Given the description of an element on the screen output the (x, y) to click on. 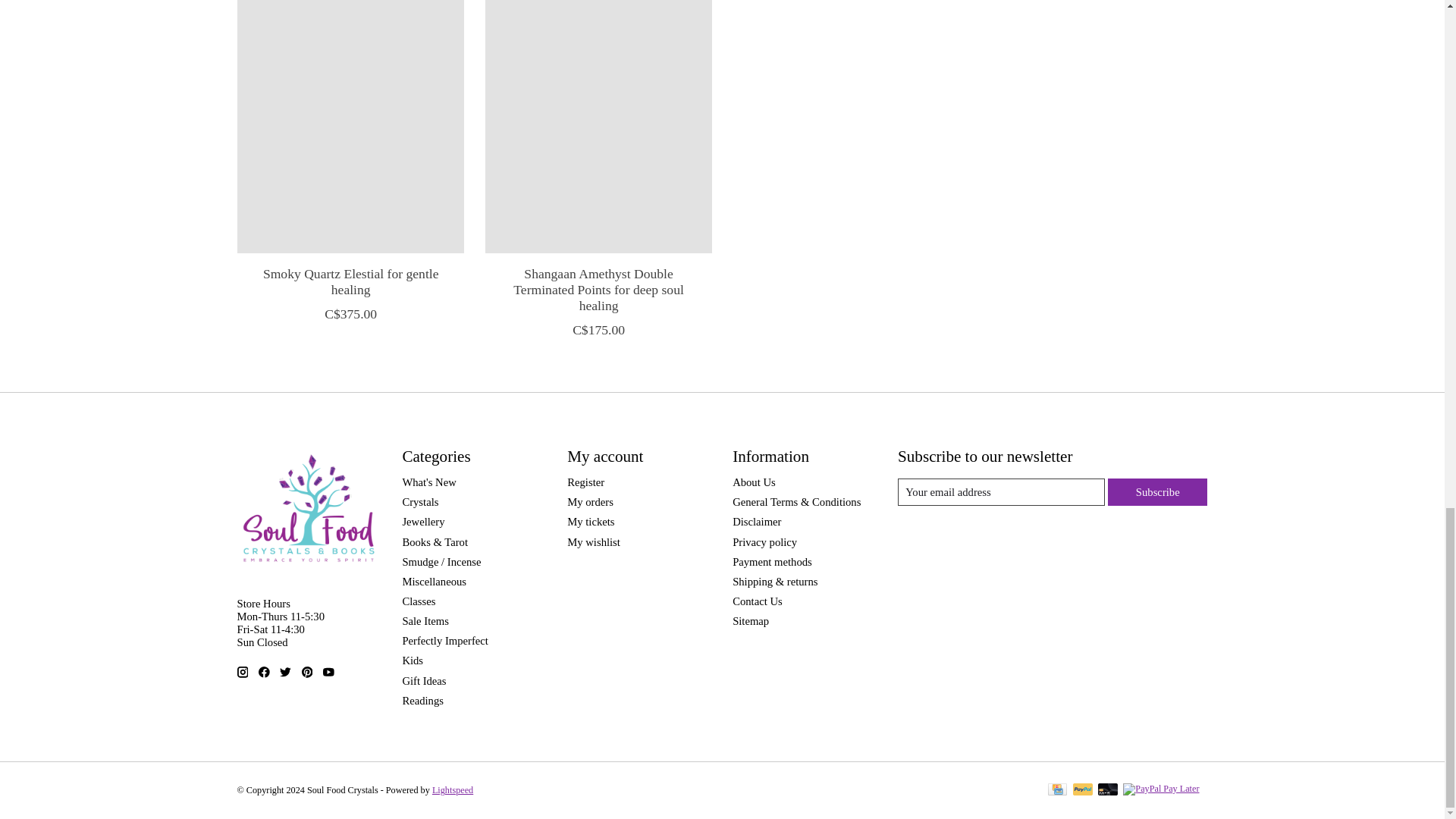
Register (585, 481)
Smoky Quartz Elestial for gentle healing (349, 126)
My orders (589, 501)
